Given the description of an element on the screen output the (x, y) to click on. 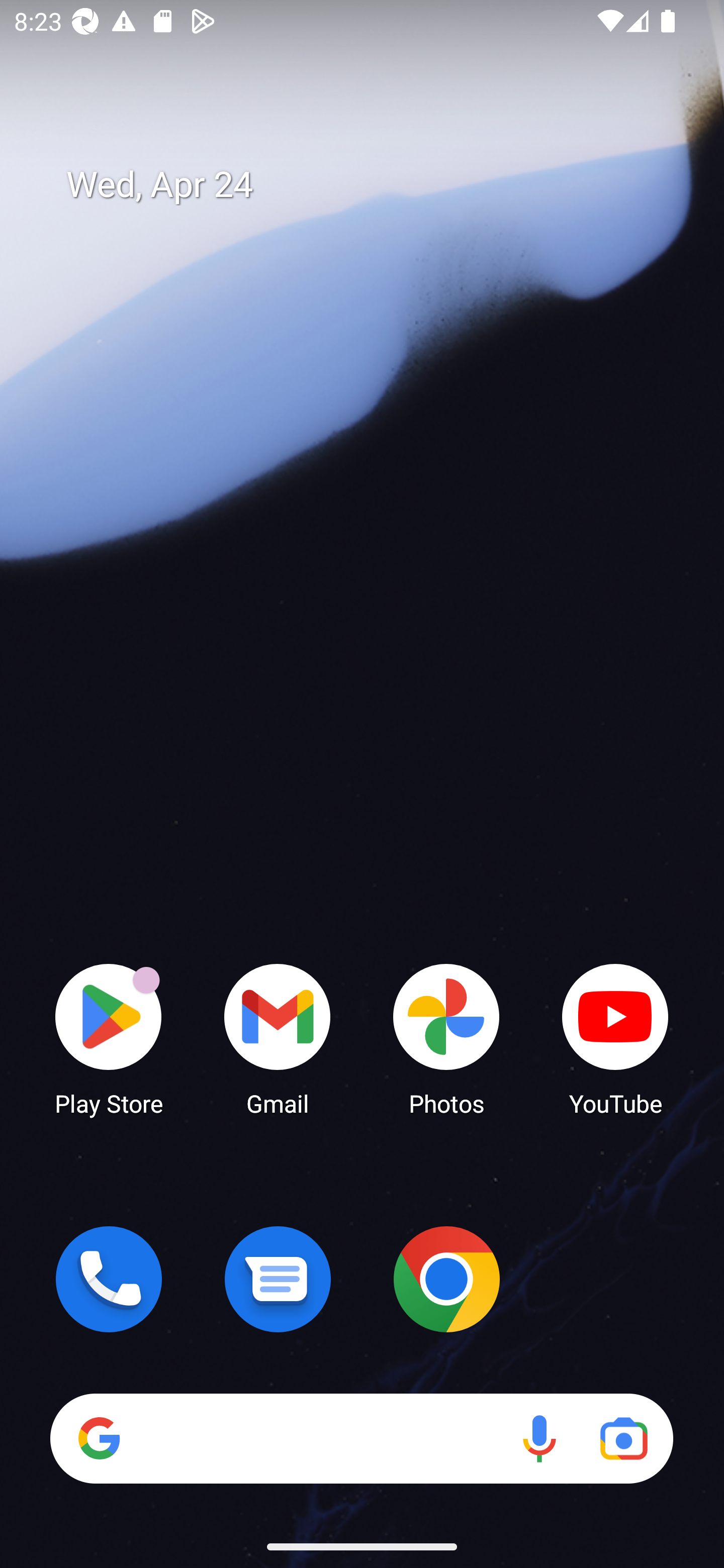
Wed, Apr 24 (375, 184)
Play Store Play Store has 1 notification (108, 1038)
Gmail (277, 1038)
Photos (445, 1038)
YouTube (615, 1038)
Phone (108, 1279)
Messages (277, 1279)
Chrome (446, 1279)
Search Voice search Google Lens (361, 1438)
Voice search (539, 1438)
Google Lens (623, 1438)
